Given the description of an element on the screen output the (x, y) to click on. 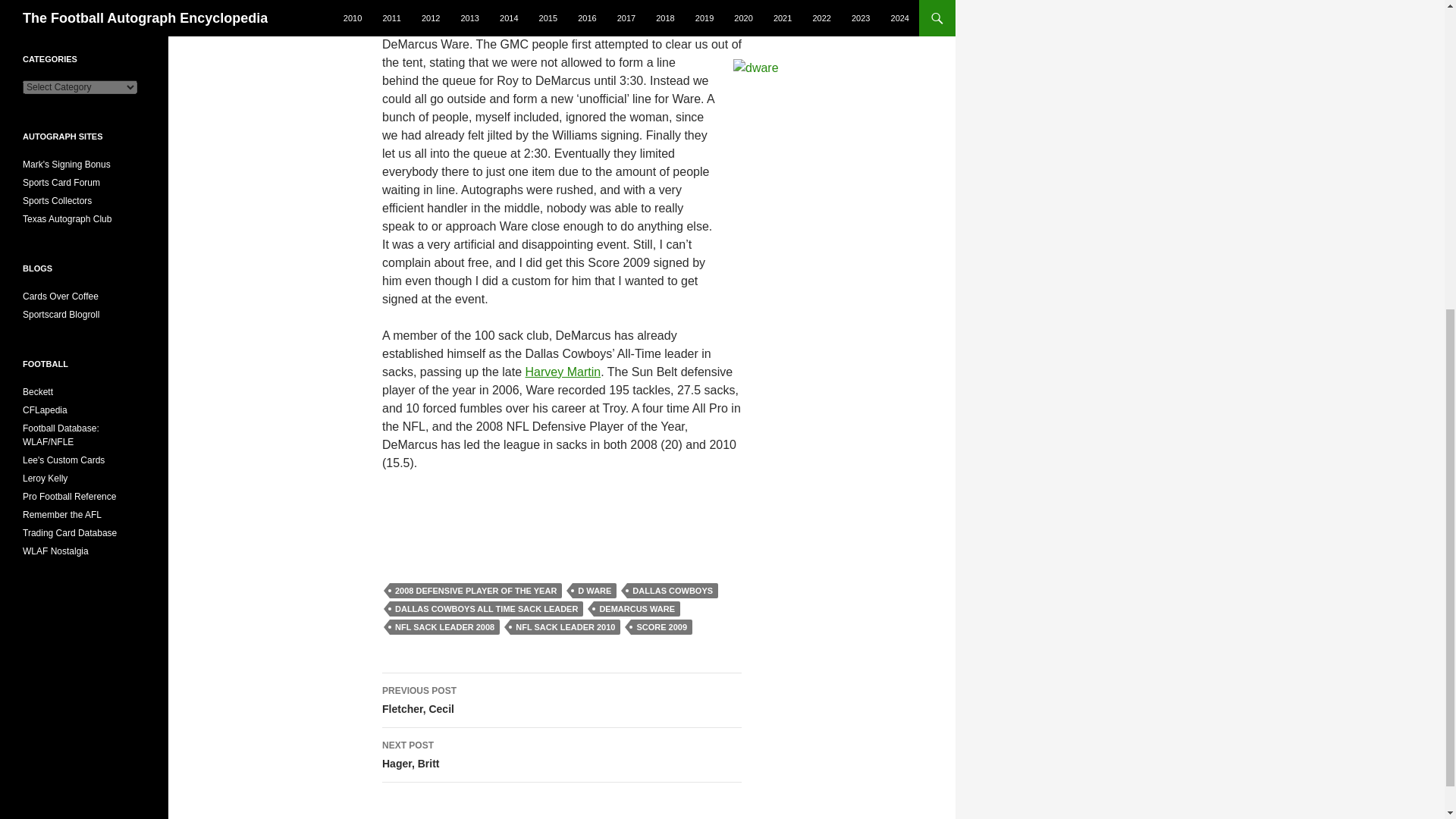
great site to help supplement autograph collecting (57, 200)
NFL SACK LEADER 2008 (561, 755)
SCORE 2009 (444, 626)
A fellow TTM collector (661, 626)
D WARE (66, 163)
trading card store (593, 590)
Harvey Martin (37, 391)
DALLAS COWBOYS ALL TIME SACK LEADER (563, 371)
My custom football card account (486, 608)
WLAF Pro Set 1991 Cards (63, 460)
DEMARCUS WARE (55, 551)
